Given the description of an element on the screen output the (x, y) to click on. 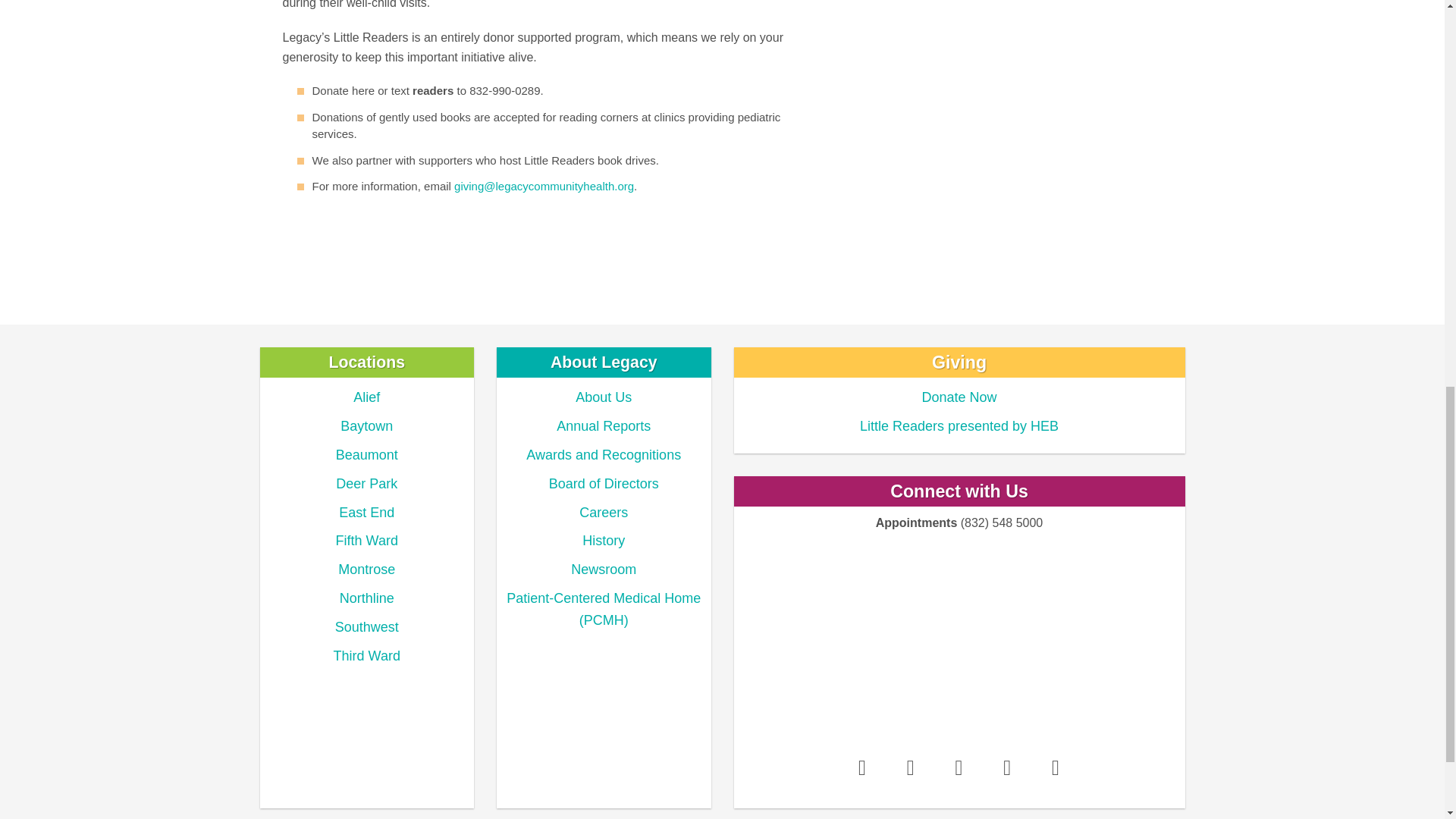
Follow on Facebook (861, 768)
Follow on Twitter (959, 768)
Follow on Instagram (910, 768)
Follow on LinkedIn (1007, 768)
